Given the description of an element on the screen output the (x, y) to click on. 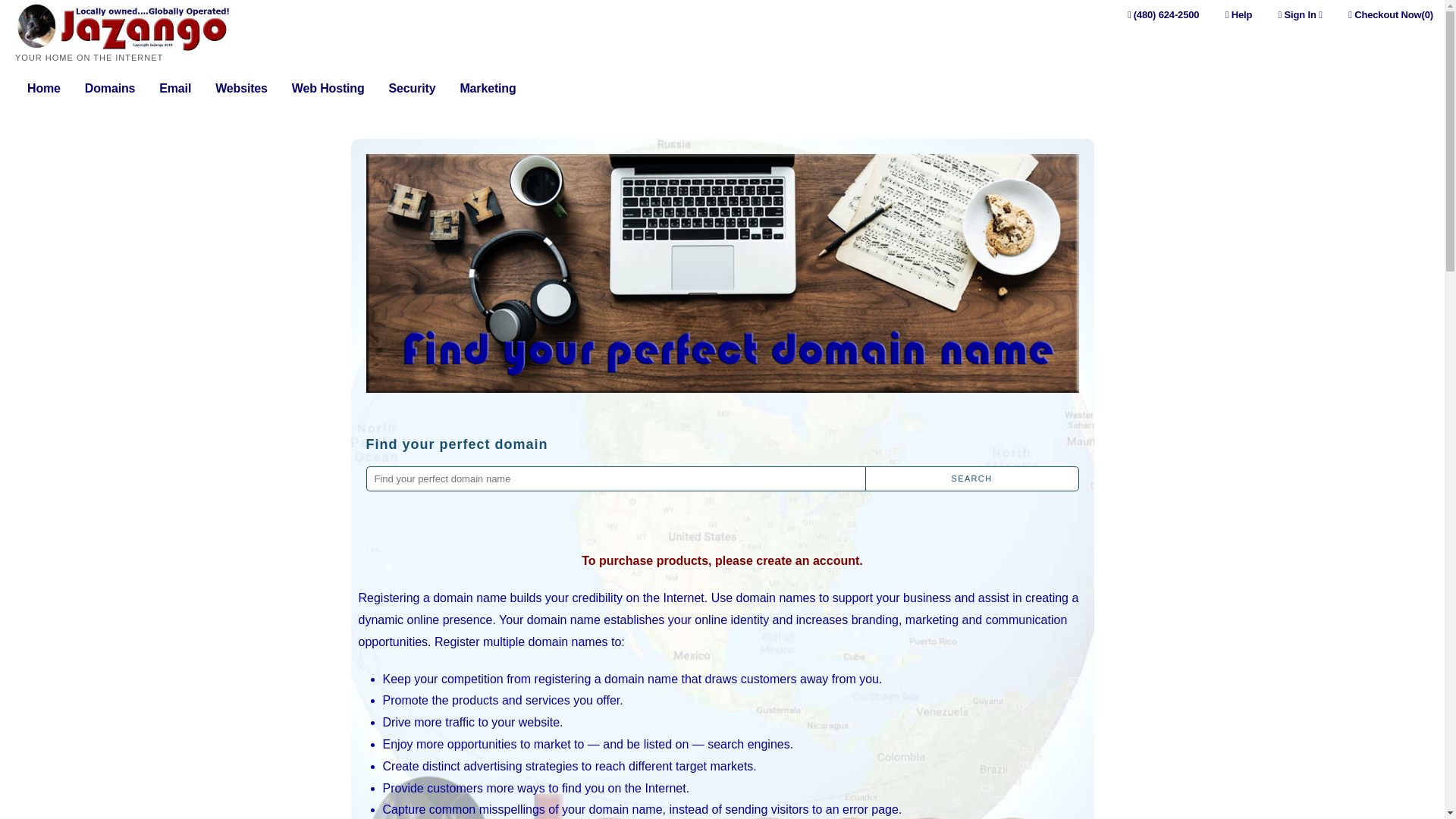
Web Hosting (328, 89)
Email (174, 89)
Search (971, 478)
Domains (109, 89)
Search (971, 478)
Websites (241, 89)
Help (1238, 14)
Security (411, 89)
Home (44, 89)
Sign In (1300, 14)
